Given the description of an element on the screen output the (x, y) to click on. 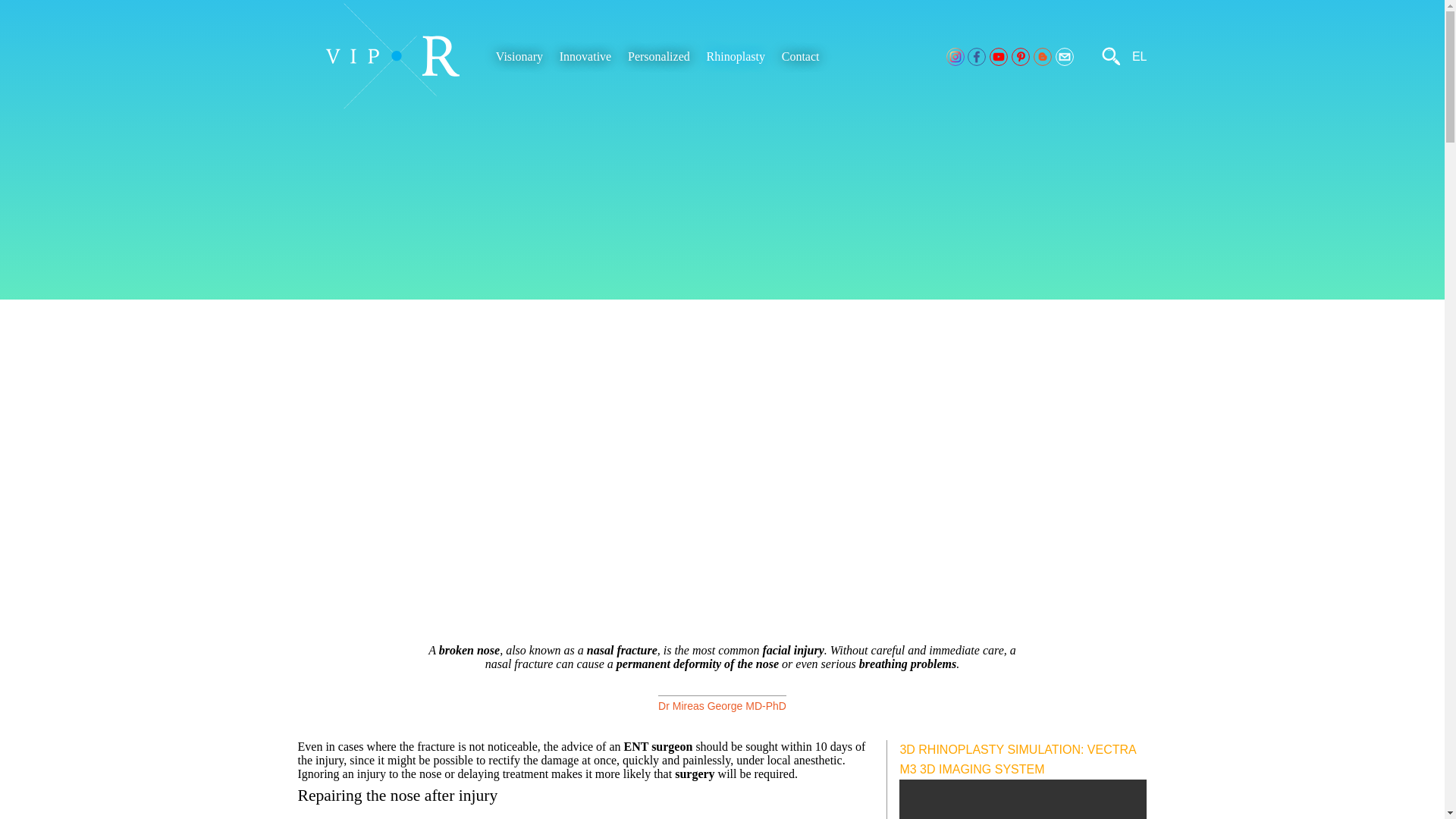
Innovative (585, 56)
Contact (800, 56)
Contact (800, 56)
Visionary (519, 56)
Rhinoplasty (735, 56)
3D RHINOPLASTY SIMULATION: VECTRA M3 3D IMAGING SYSTEM (1017, 758)
Visionary (519, 56)
Innovative (585, 56)
EL (1139, 56)
Personalized (659, 56)
Personalized (659, 56)
Dr Mireas George MD-PhD (722, 705)
Rhinoplasty (735, 56)
